Given the description of an element on the screen output the (x, y) to click on. 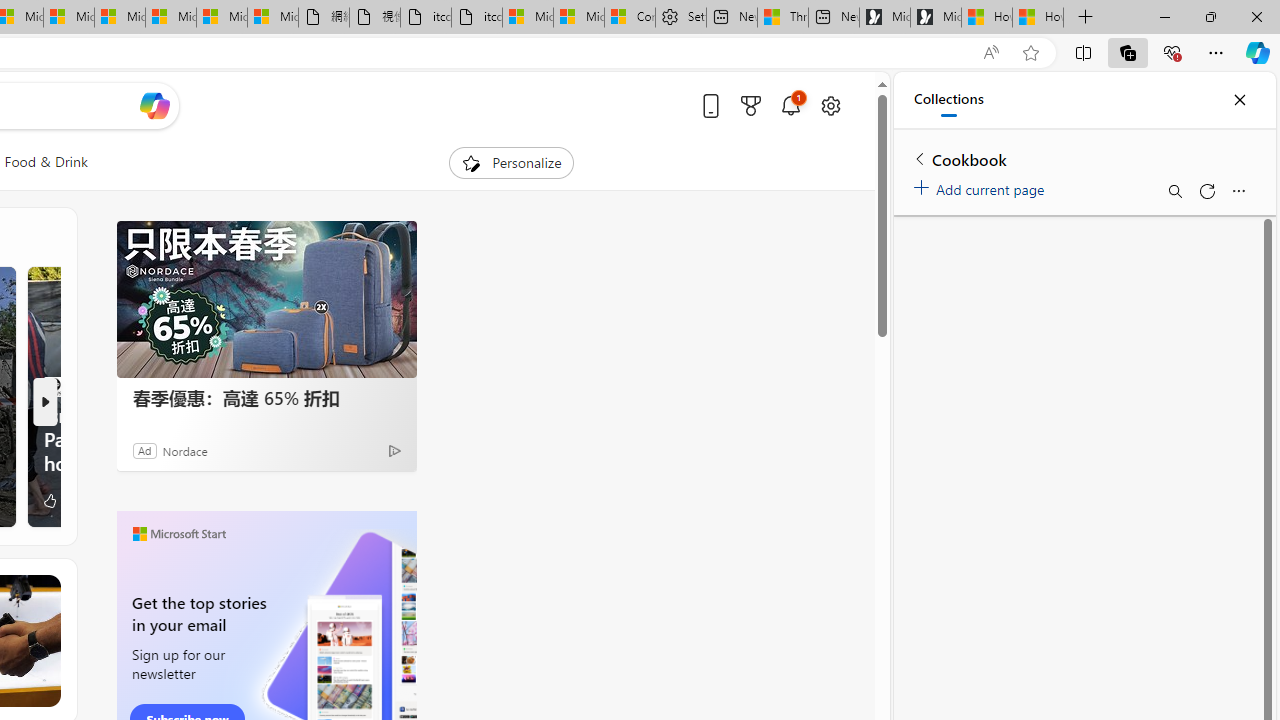
Consumer Health Data Privacy Policy (630, 17)
